Given the description of an element on the screen output the (x, y) to click on. 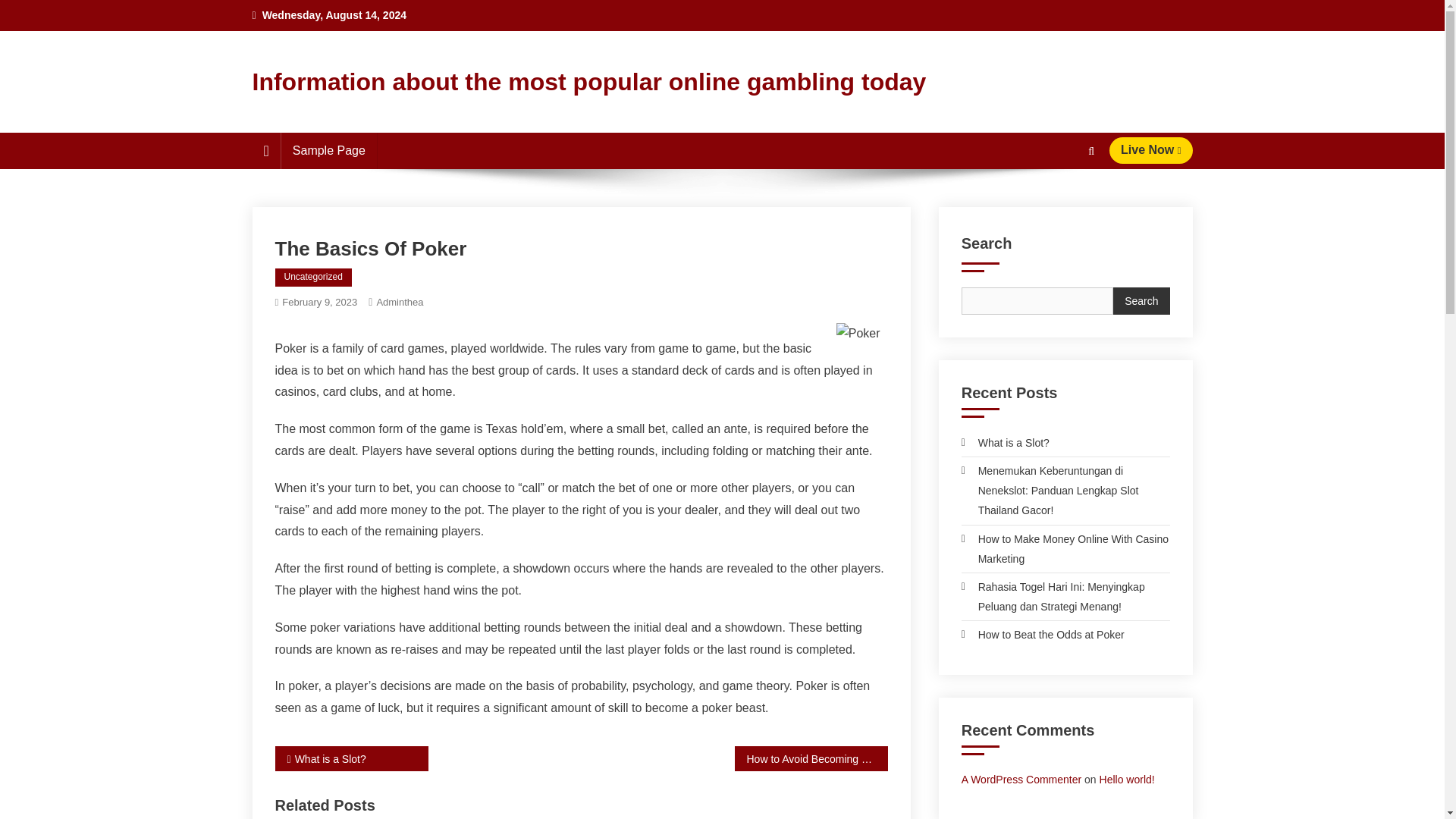
Sample Page (329, 150)
How to Avoid Becoming a Problem Gambler (809, 758)
A WordPress Commenter (1020, 779)
Uncategorized (312, 277)
Adminthea (399, 301)
Information about the most popular online gambling today (588, 81)
How to Make Money Online With Casino Marketing (1065, 548)
What is a Slot? (1004, 442)
Search (1062, 206)
February 9, 2023 (319, 301)
